Given the description of an element on the screen output the (x, y) to click on. 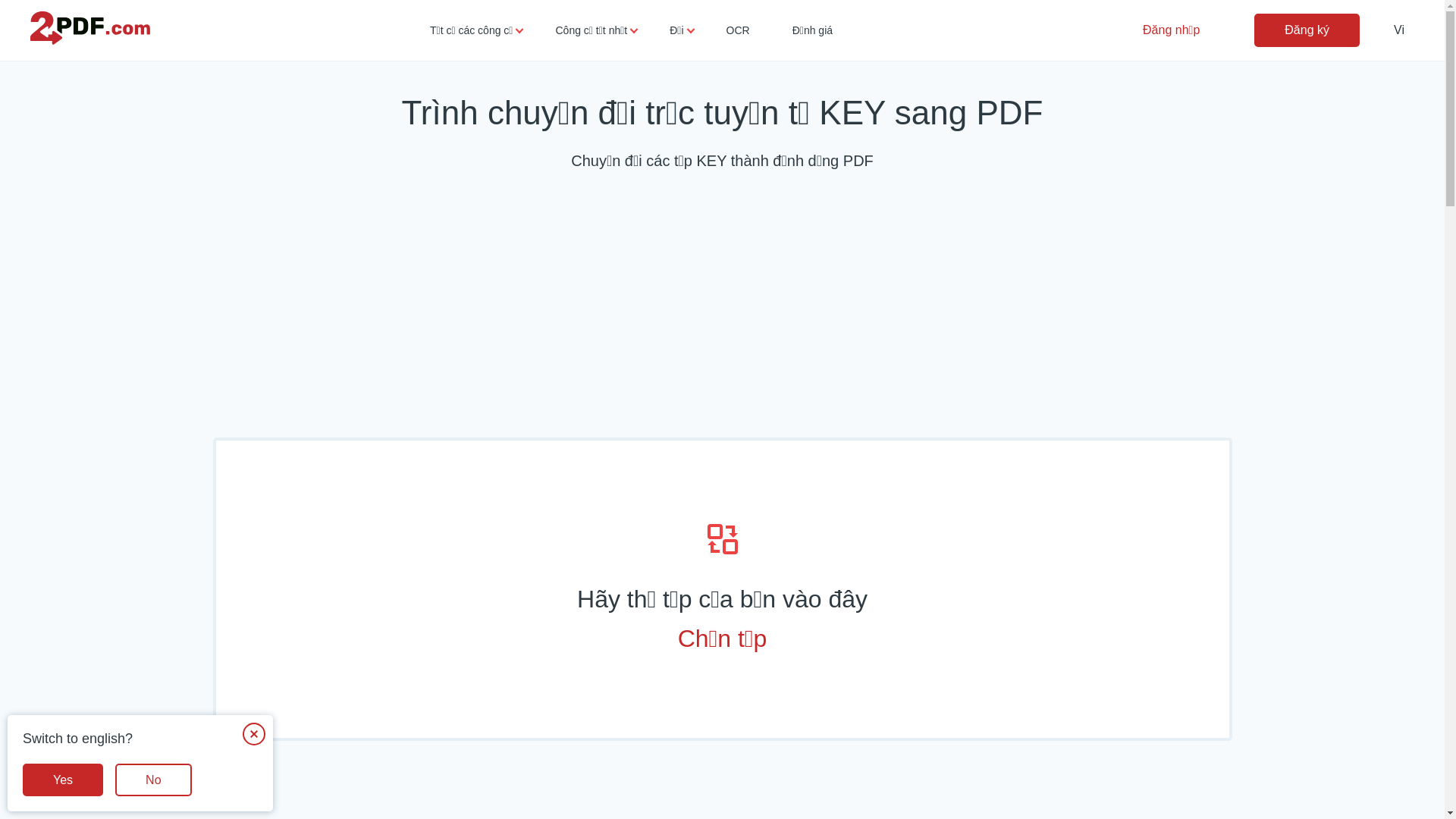
Close the window Element type: hover (253, 733)
OCR Element type: text (737, 30)
Yes Element type: text (62, 779)
Advertisement Element type: hover (721, 308)
No Element type: text (153, 779)
